Given the description of an element on the screen output the (x, y) to click on. 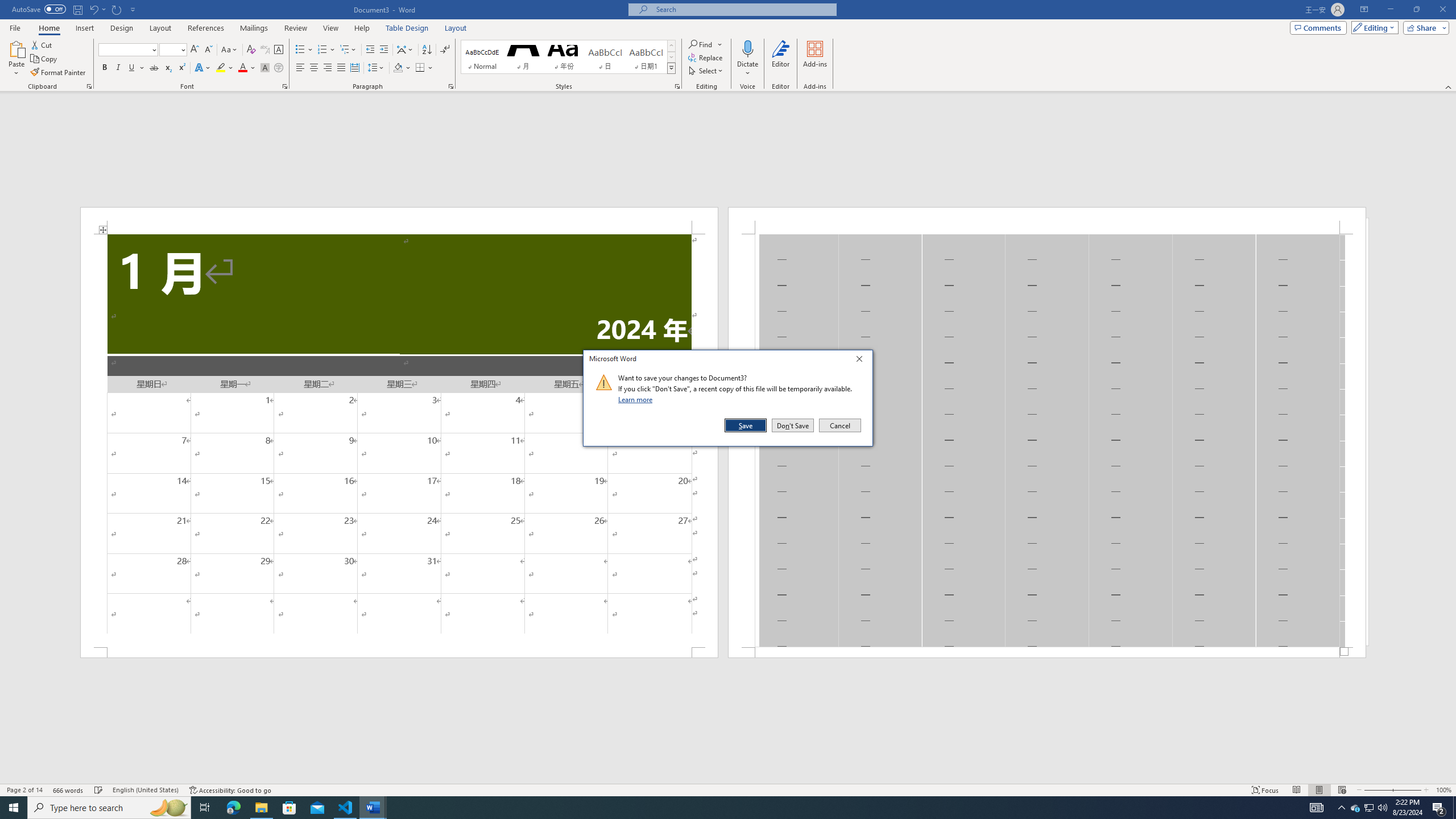
Show/Hide Editing Marks (444, 49)
Mode (1372, 27)
Header -Section 1- (1046, 220)
Undo Apply Quick Style (92, 9)
Type here to search (108, 807)
Italic (118, 67)
Learn more (636, 399)
Show desktop (1454, 807)
Decrease Indent (370, 49)
